Given the description of an element on the screen output the (x, y) to click on. 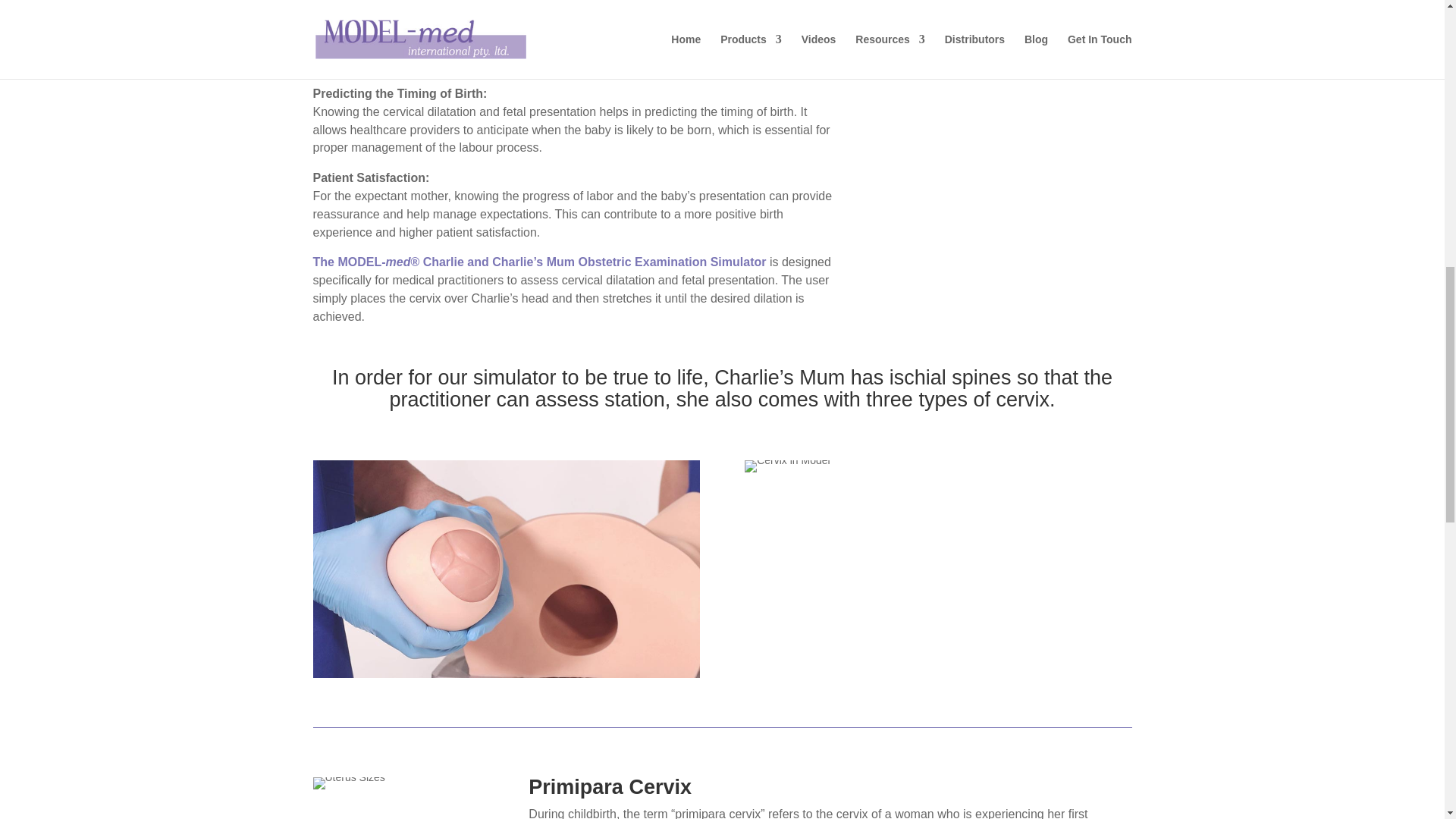
Cervix in Model (786, 466)
Charlie and his mum (1009, 97)
Cervix on Head (505, 569)
